Given the description of an element on the screen output the (x, y) to click on. 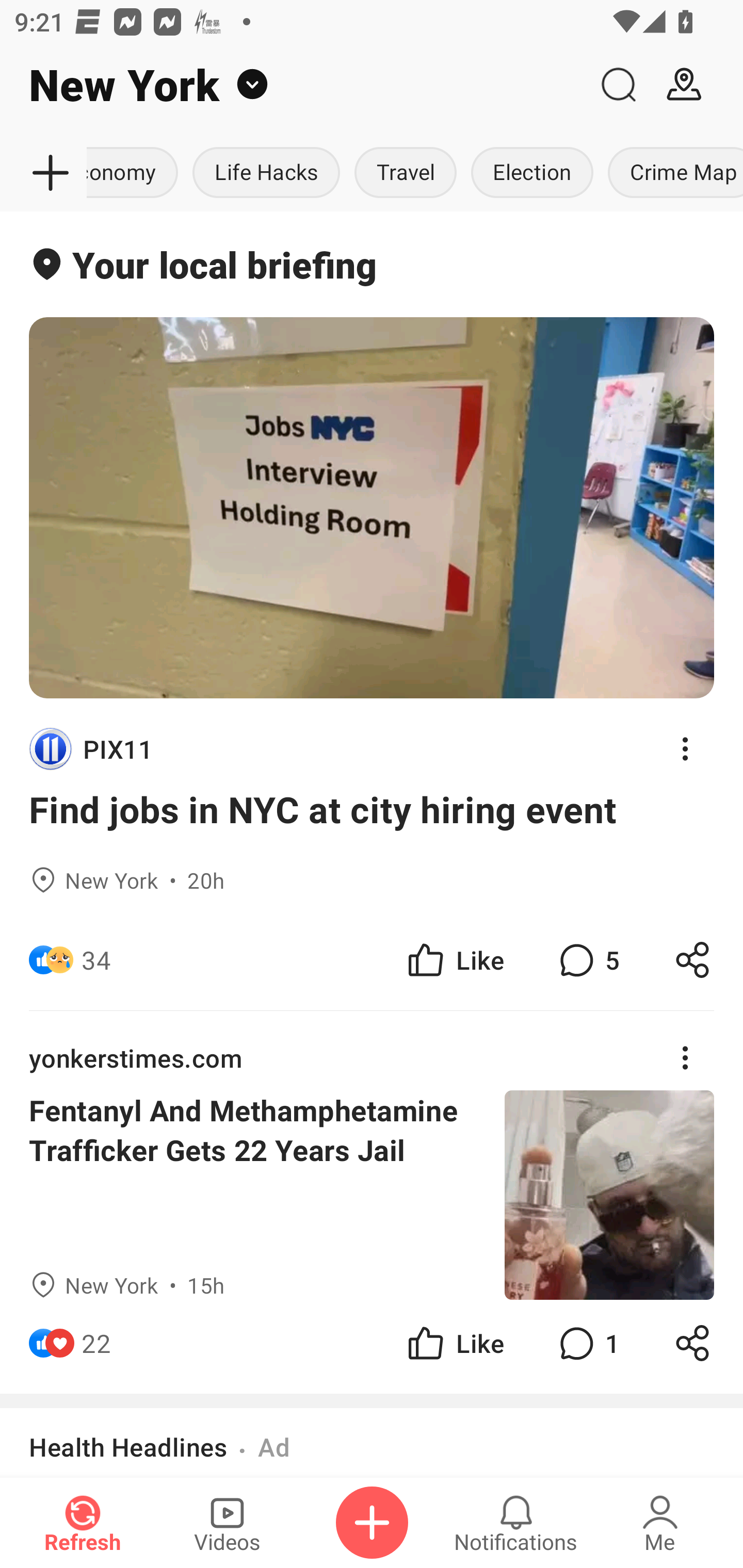
New York (292, 84)
Economy (135, 172)
Life Hacks (265, 172)
Travel (404, 172)
Election (531, 172)
Crime Map (671, 172)
34 (95, 960)
Like (454, 960)
5 (587, 960)
22 (95, 1342)
Like (454, 1342)
1 (587, 1342)
Health Headlines (127, 1447)
Videos (227, 1522)
Notifications (516, 1522)
Me (659, 1522)
